Given the description of an element on the screen output the (x, y) to click on. 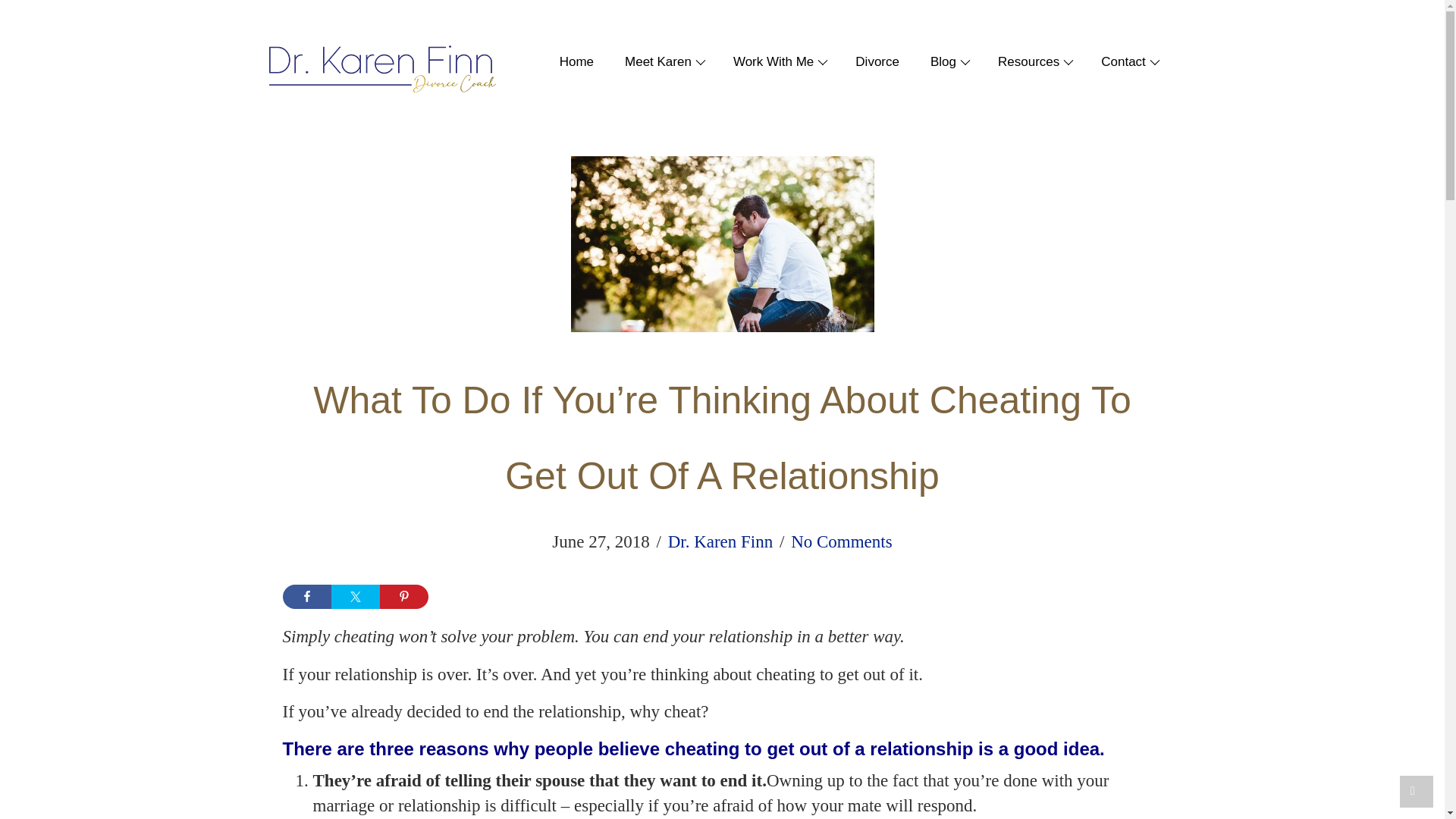
Resources (1026, 61)
Share on Pinterest (403, 596)
Contact (1120, 61)
Logo-Dr-Karen-Finn (381, 70)
Meet Karen (656, 61)
Blog (940, 61)
Share on Twitter (354, 596)
Man thinking about cheating to get out of a relationship. (721, 244)
Work With Me (770, 61)
Divorce (869, 61)
Share on Facebook (306, 596)
Dr. Karen Finn (720, 541)
Home (569, 61)
